Given the description of an element on the screen output the (x, y) to click on. 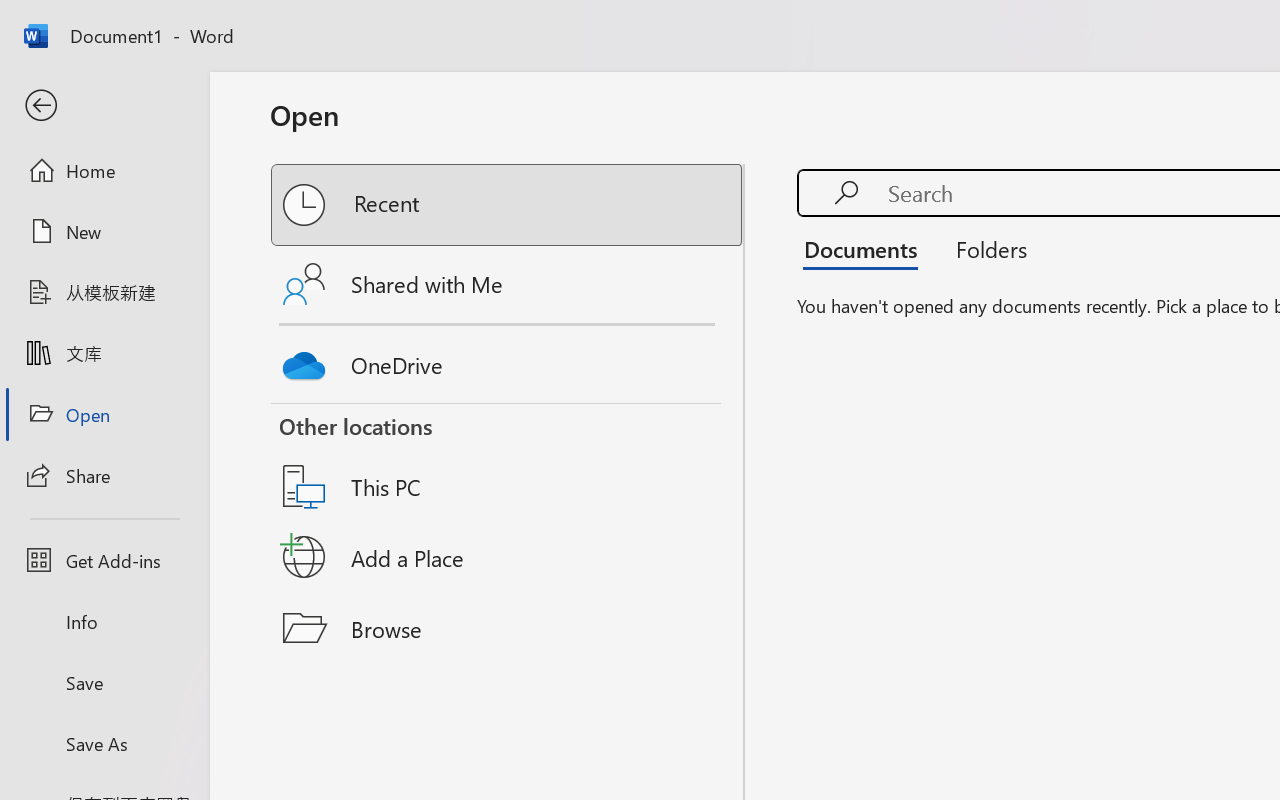
Documents (866, 248)
OneDrive (507, 359)
Shared with Me (507, 283)
Save As (104, 743)
